Given the description of an element on the screen output the (x, y) to click on. 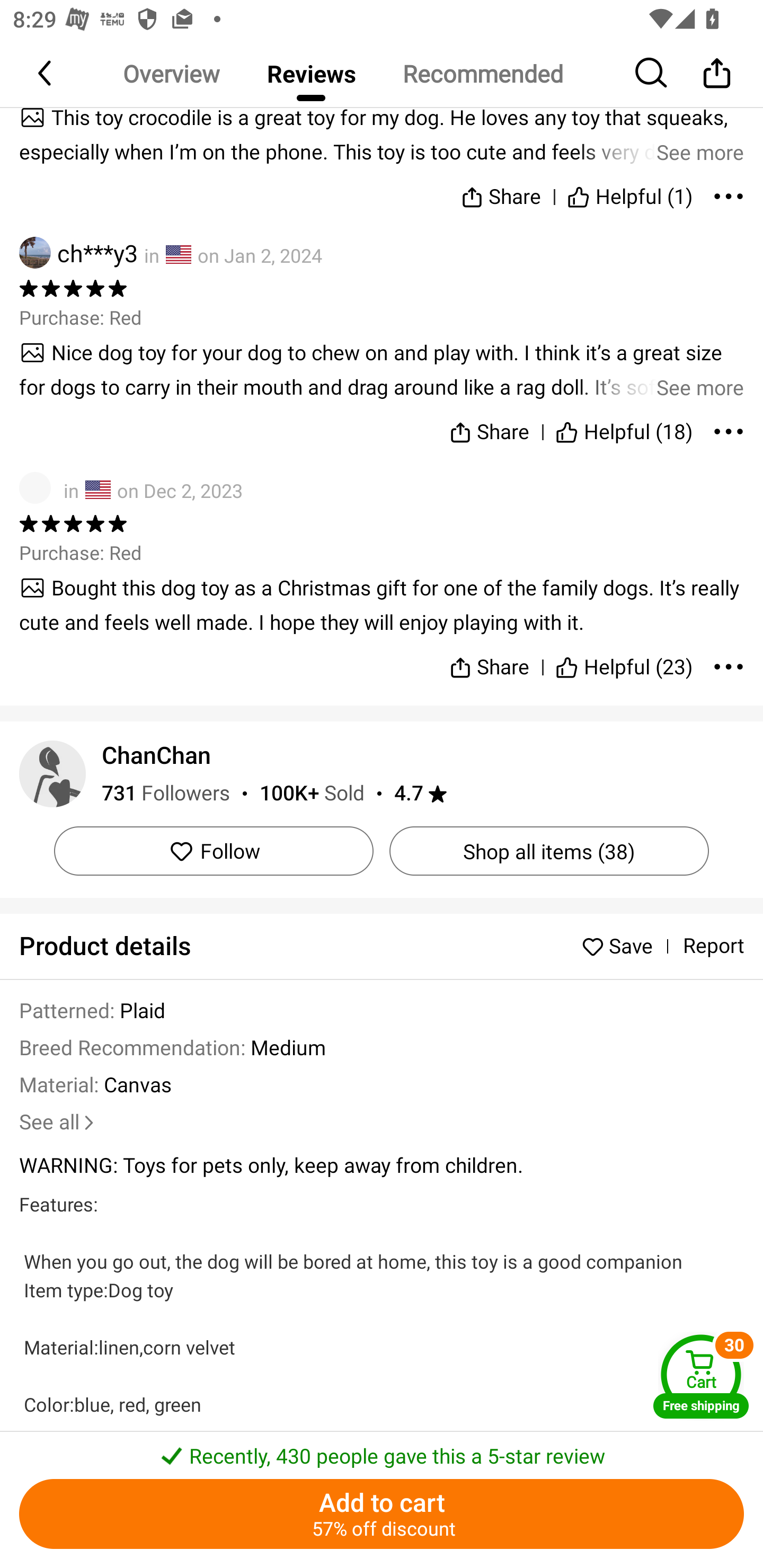
Overview (171, 72)
Reviews (311, 72)
Recommended (482, 72)
Back (46, 72)
Share (716, 72)
See more (381, 133)
  Share (500, 192)
  Helpful (1) (629, 192)
ch***y3 (78, 252)
See more (381, 368)
  Share (489, 427)
  Helpful (18) (624, 427)
  Share (489, 659)
  Helpful (23) (624, 659)
  Follow (213, 850)
Shop all items (38) (548, 850)
Report (712, 946)
 Save (621, 945)
See all  (58, 1122)
Cart Free shipping Cart (701, 1375)
￼￼Recently, 430 people gave this a 5-star review (381, 1450)
Add to cart  57% off discount (381, 1513)
